Given the description of an element on the screen output the (x, y) to click on. 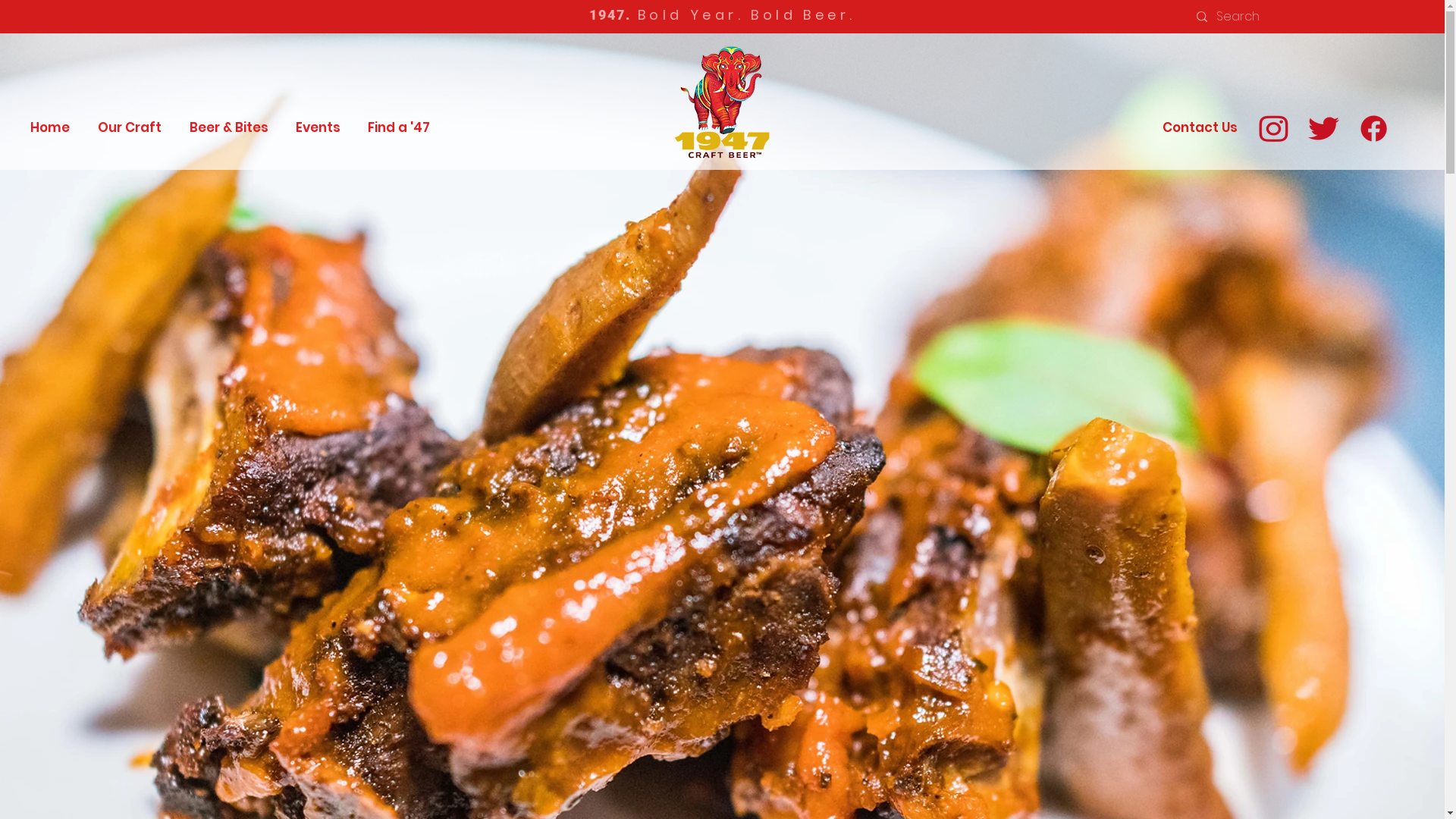
Our Craft Element type: text (129, 126)
Home Element type: text (49, 126)
Find a '47 Element type: text (398, 126)
1947 Craft Beer Logo Element type: hover (721, 100)
Contact Us Element type: text (1199, 127)
